Given the description of an element on the screen output the (x, y) to click on. 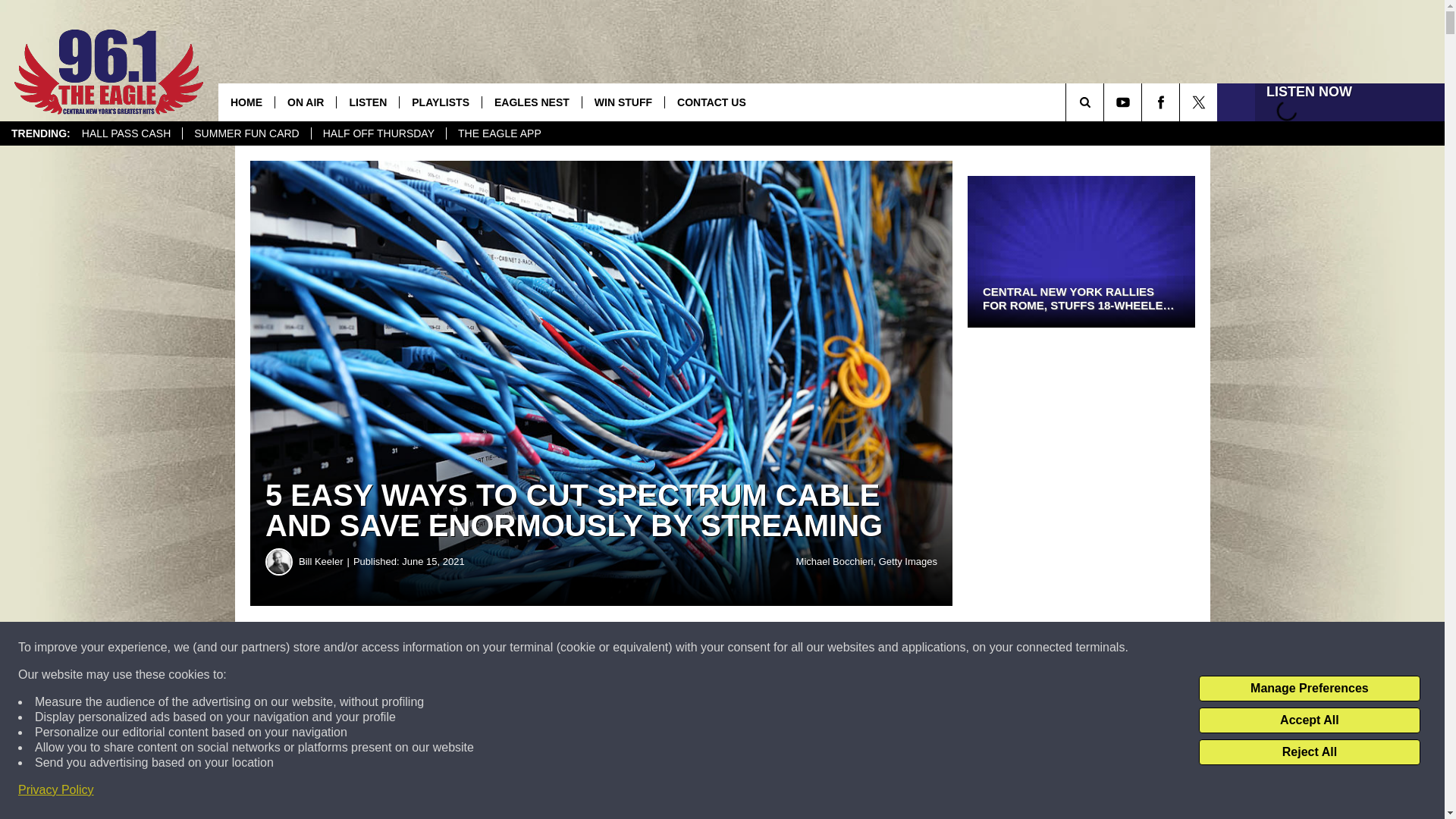
Share on Twitter (741, 647)
THE EAGLE APP (499, 133)
Share on Facebook (460, 647)
Reject All (1309, 751)
HOME (246, 102)
SEARCH (1106, 102)
HALL PASS CASH (126, 133)
Accept All (1309, 720)
SUMMER FUN CARD (246, 133)
SEARCH (1106, 102)
